Given the description of an element on the screen output the (x, y) to click on. 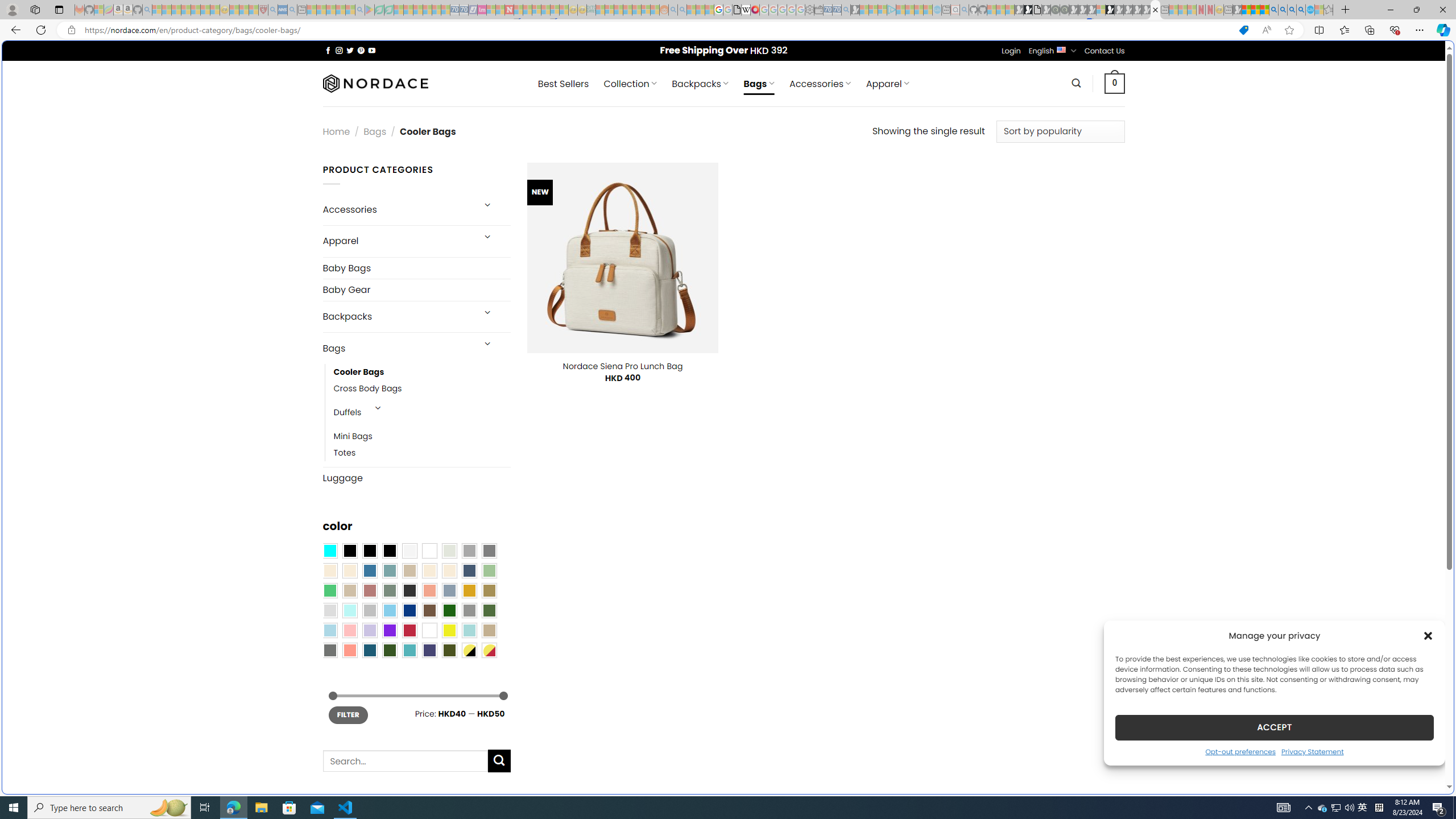
Forest (389, 649)
Follow on Facebook (327, 49)
